Given the description of an element on the screen output the (x, y) to click on. 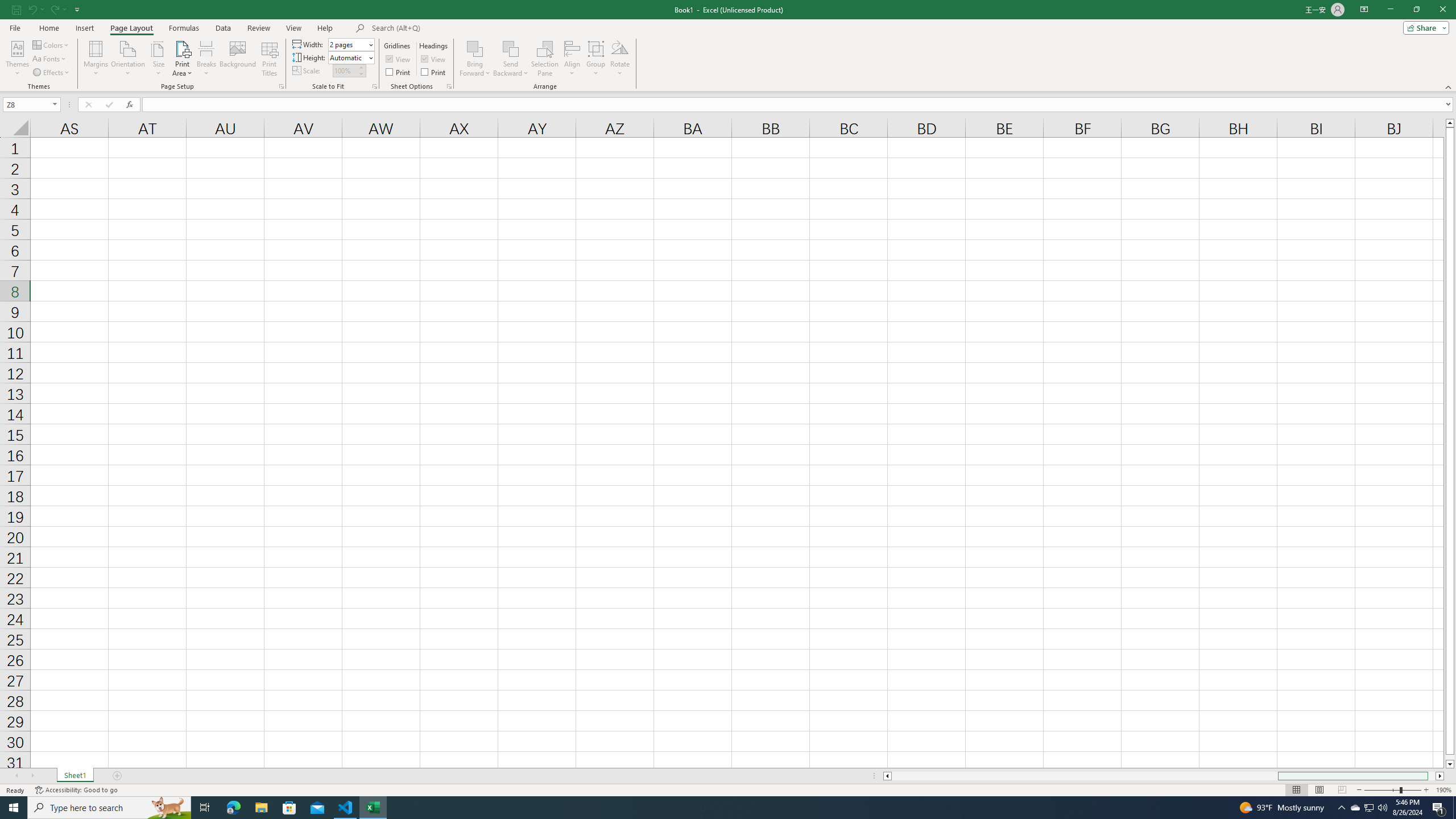
View (434, 58)
Home (48, 28)
Sheet1 (74, 775)
Rotate (619, 58)
View (293, 28)
Name Box (27, 104)
Minimize (1390, 9)
Themes (17, 58)
Add Sheet (117, 775)
Send Backward (510, 48)
Page right (1431, 775)
Print (434, 71)
Selection Pane... (544, 58)
Zoom Out (1381, 790)
Formulas (184, 28)
